Given the description of an element on the screen output the (x, y) to click on. 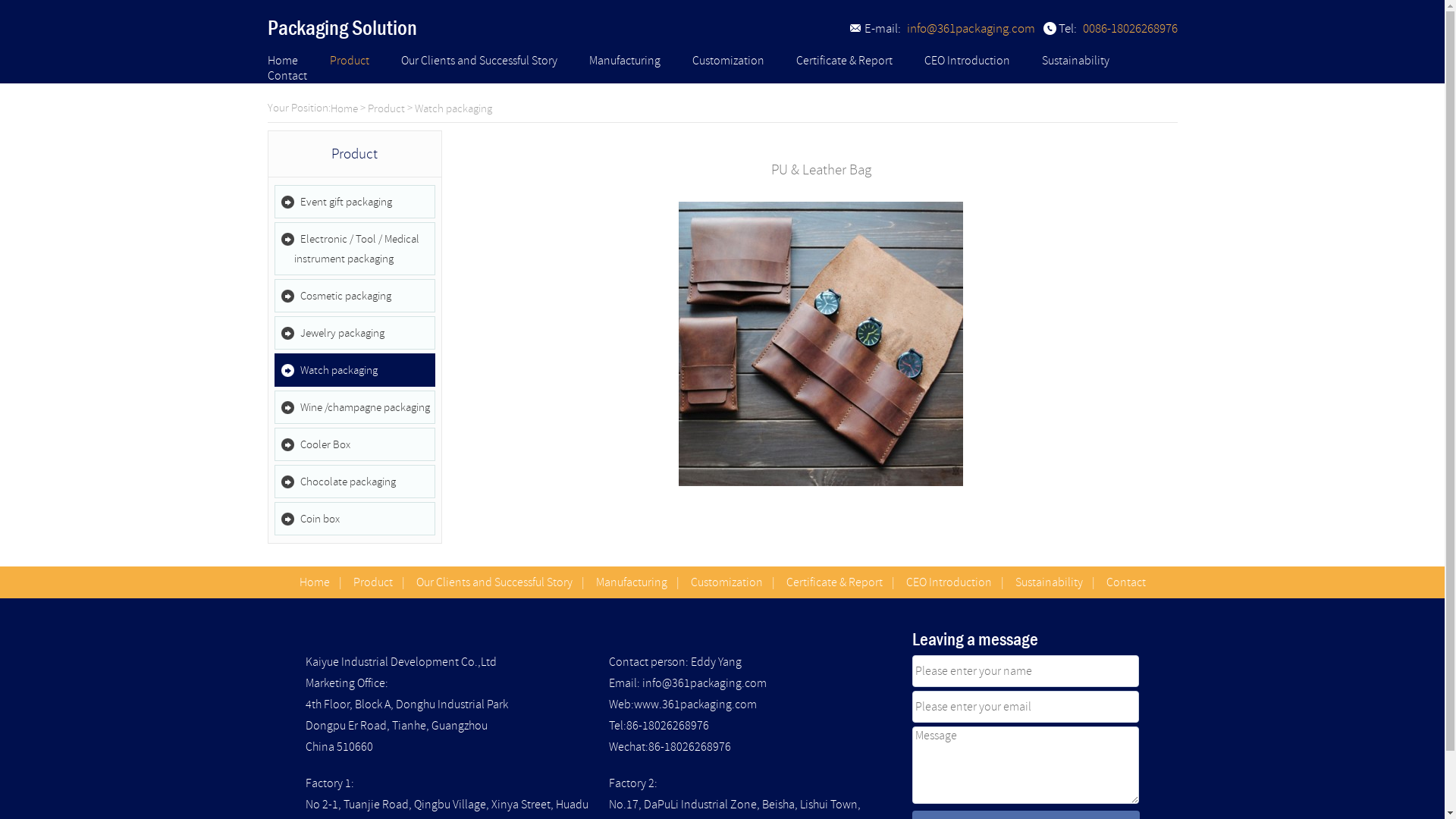
Electronic / Tool / Medical instrument packaging Element type: text (354, 248)
Manufacturing Element type: text (623, 60)
Coin box Element type: text (354, 518)
info@361packaging.com Element type: text (703, 682)
Cosmetic packaging Element type: text (354, 295)
Our Clients and Successful Story Element type: text (478, 60)
Event gift packaging Element type: text (354, 201)
Jewelry packaging Element type: text (354, 332)
Watch packaging Element type: text (452, 108)
Customization Element type: text (726, 581)
Product Element type: text (348, 60)
Product Element type: text (385, 108)
Cooler Box Element type: text (354, 444)
Our Clients and Successful Story Element type: text (493, 581)
info@361packaging.com Element type: text (970, 28)
Sustainability Element type: text (1048, 581)
Wine /champagne packaging Element type: text (354, 406)
Home Element type: text (281, 60)
Chocolate packaging Element type: text (354, 481)
Certificate & Report Element type: text (833, 581)
Home Element type: text (313, 581)
Certificate & Report Element type: text (844, 60)
Contact Element type: text (1125, 581)
Watch packaging Element type: text (354, 369)
Contact Element type: text (286, 75)
PU & Leather Bag Element type: hover (820, 209)
Customization Element type: text (727, 60)
Product Element type: text (372, 581)
Manufacturing Element type: text (631, 581)
CEO Introduction Element type: text (948, 581)
Sustainability Element type: text (1075, 60)
Home Element type: text (343, 108)
CEO Introduction Element type: text (966, 60)
